Given the description of an element on the screen output the (x, y) to click on. 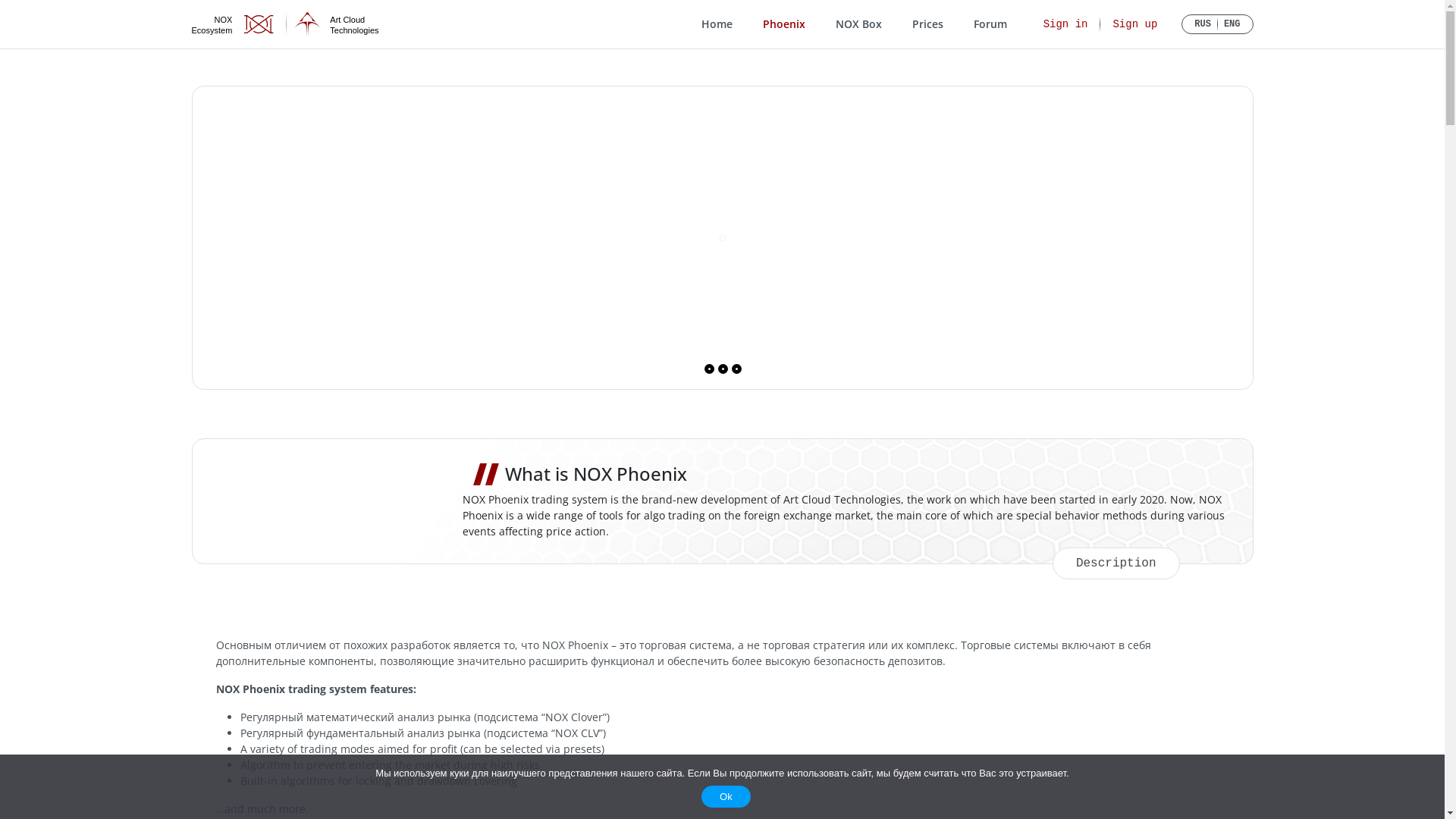
Sign in Element type: text (1065, 24)
Prices Element type: text (927, 23)
Phoenix Element type: text (783, 23)
Ok Element type: text (725, 796)
Sign up Element type: text (1134, 24)
NOX
Ecosystem
Art Cloud
Technologies Element type: text (284, 24)
Forum Element type: text (990, 23)
Home Element type: text (716, 23)
NOX Box Element type: text (858, 23)
ENG Element type: text (1231, 24)
Description Element type: text (1115, 563)
RUS Element type: text (1202, 24)
